Given the description of an element on the screen output the (x, y) to click on. 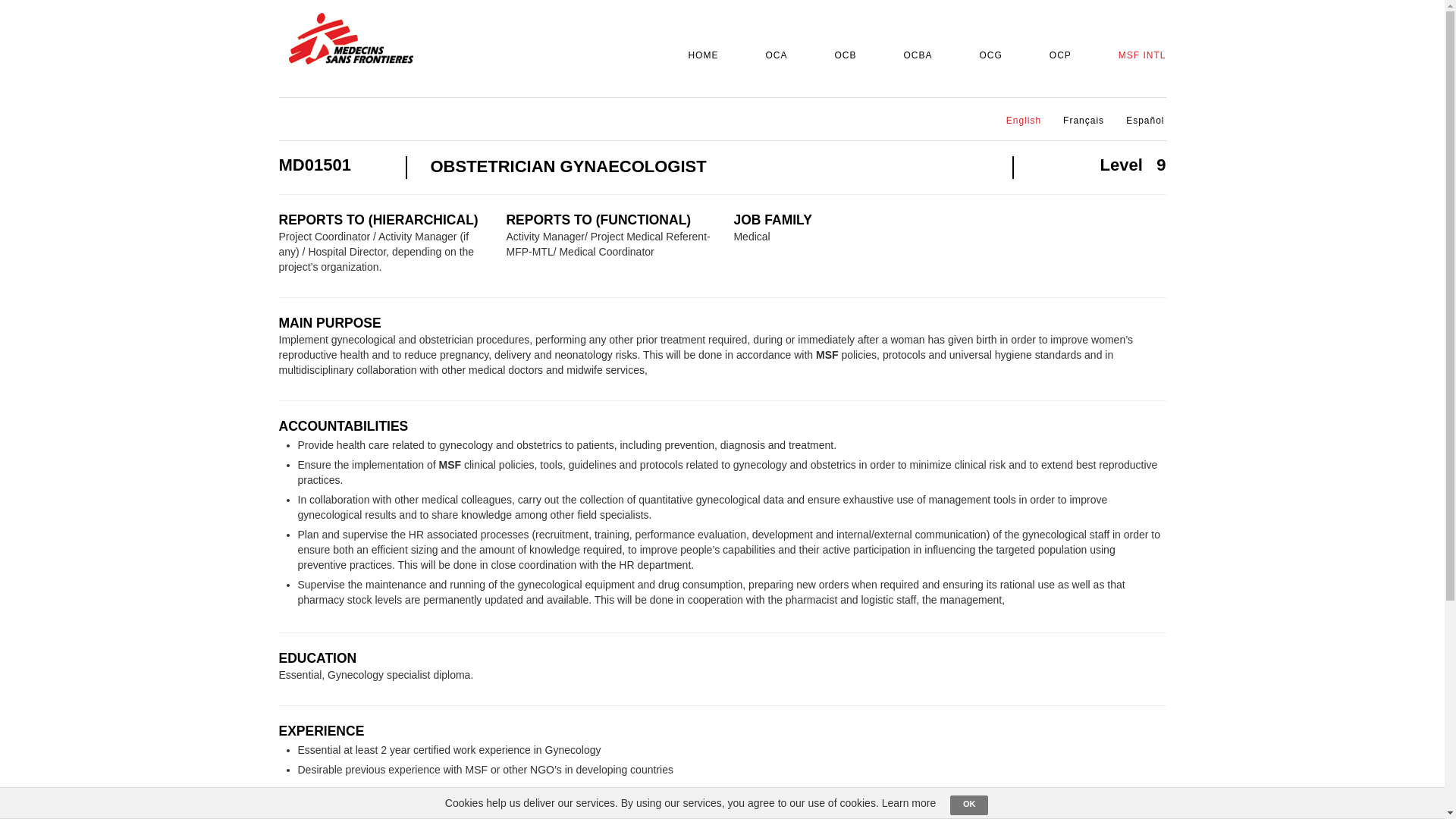
MSF INTL (1137, 55)
OCP (1056, 55)
OCBA (912, 55)
OCG (985, 55)
OCB (840, 55)
OK (969, 804)
Learn more (909, 802)
English (1019, 120)
HOME (697, 55)
OCA (771, 55)
